Given the description of an element on the screen output the (x, y) to click on. 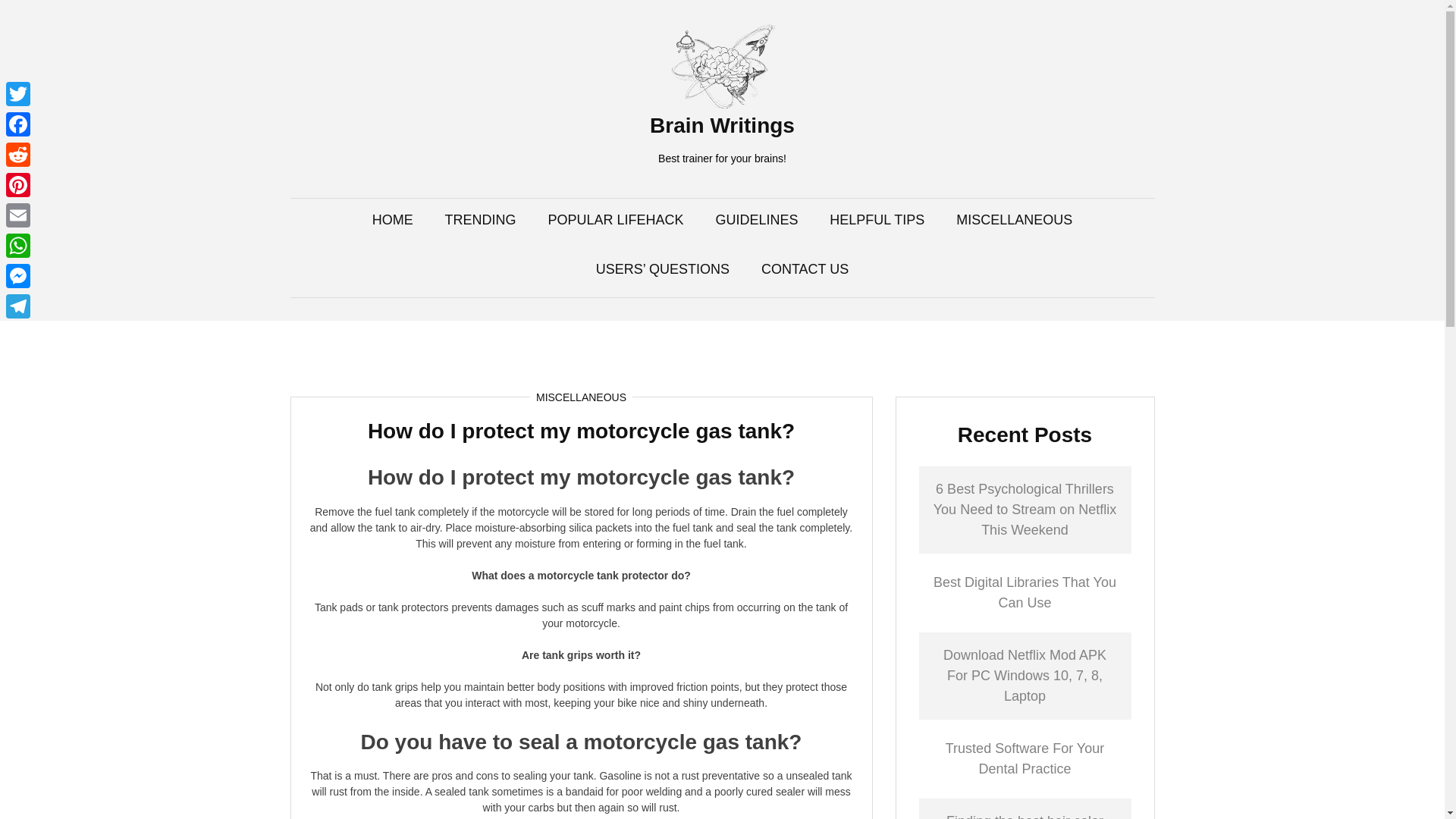
Finding the best hair color according to your skin tone (1024, 816)
Telegram (17, 306)
Reddit (17, 154)
Telegram (17, 306)
Pinterest (17, 184)
Pinterest (17, 184)
POPULAR LIFEHACK (614, 220)
WhatsApp (17, 245)
CONTACT US (804, 269)
TRENDING (480, 220)
HOME (393, 220)
Reddit (17, 154)
Trusted Software For Your Dental Practice (1023, 758)
Facebook (17, 123)
Messenger (17, 276)
